Given the description of an element on the screen output the (x, y) to click on. 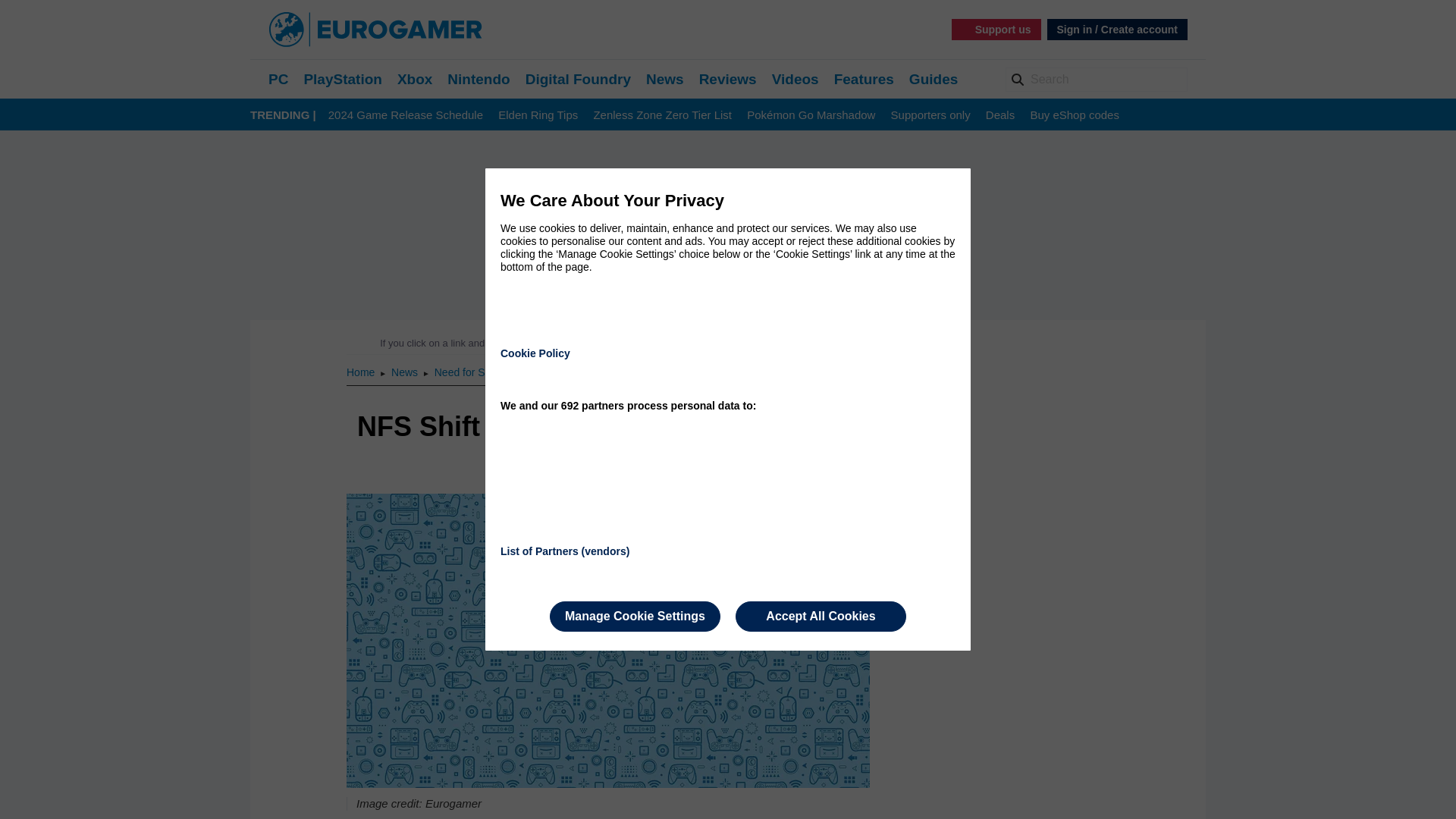
Supporters only (931, 114)
Videos (794, 78)
PlayStation (341, 78)
Digital Foundry (577, 78)
Guides (933, 78)
Need for Speed: SHIFT (488, 372)
Features (863, 78)
Digital Foundry (577, 78)
Home (361, 372)
News (665, 78)
Reviews (727, 78)
Xbox (414, 78)
2024 Game Release Schedule (406, 114)
Buy eShop codes (1074, 114)
Guides (933, 78)
